Given the description of an element on the screen output the (x, y) to click on. 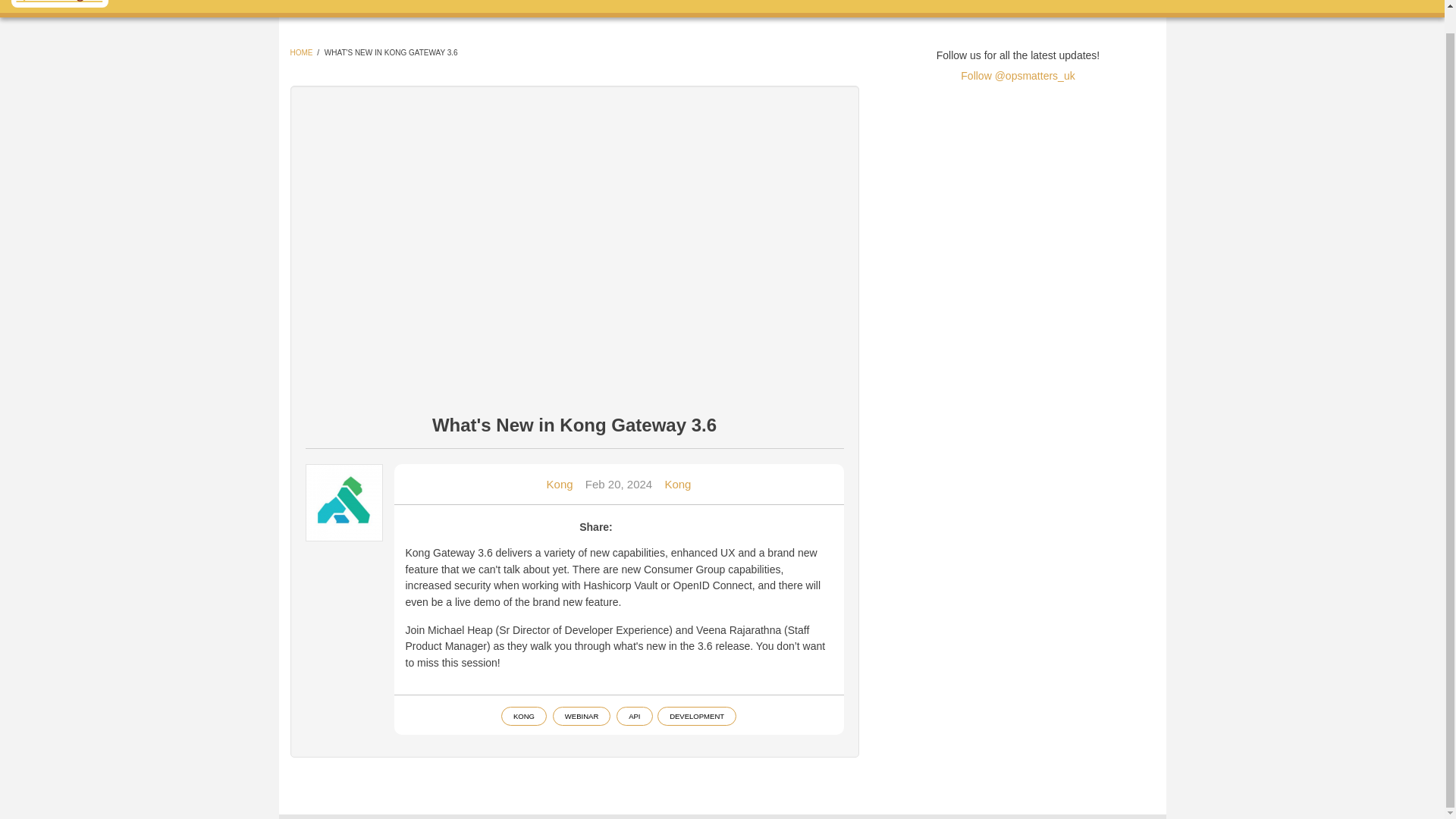
TESTING (549, 6)
linkedin (997, 3)
kong logo (343, 502)
Home (59, 3)
DEVELOPMENT (332, 6)
KONG (523, 716)
facebook (949, 3)
API (491, 6)
twitter (899, 3)
HOME (301, 52)
ANALYTICS (427, 6)
Kong (560, 483)
Kong (676, 483)
GitHub (1046, 3)
WEBINAR (581, 716)
